Given the description of an element on the screen output the (x, y) to click on. 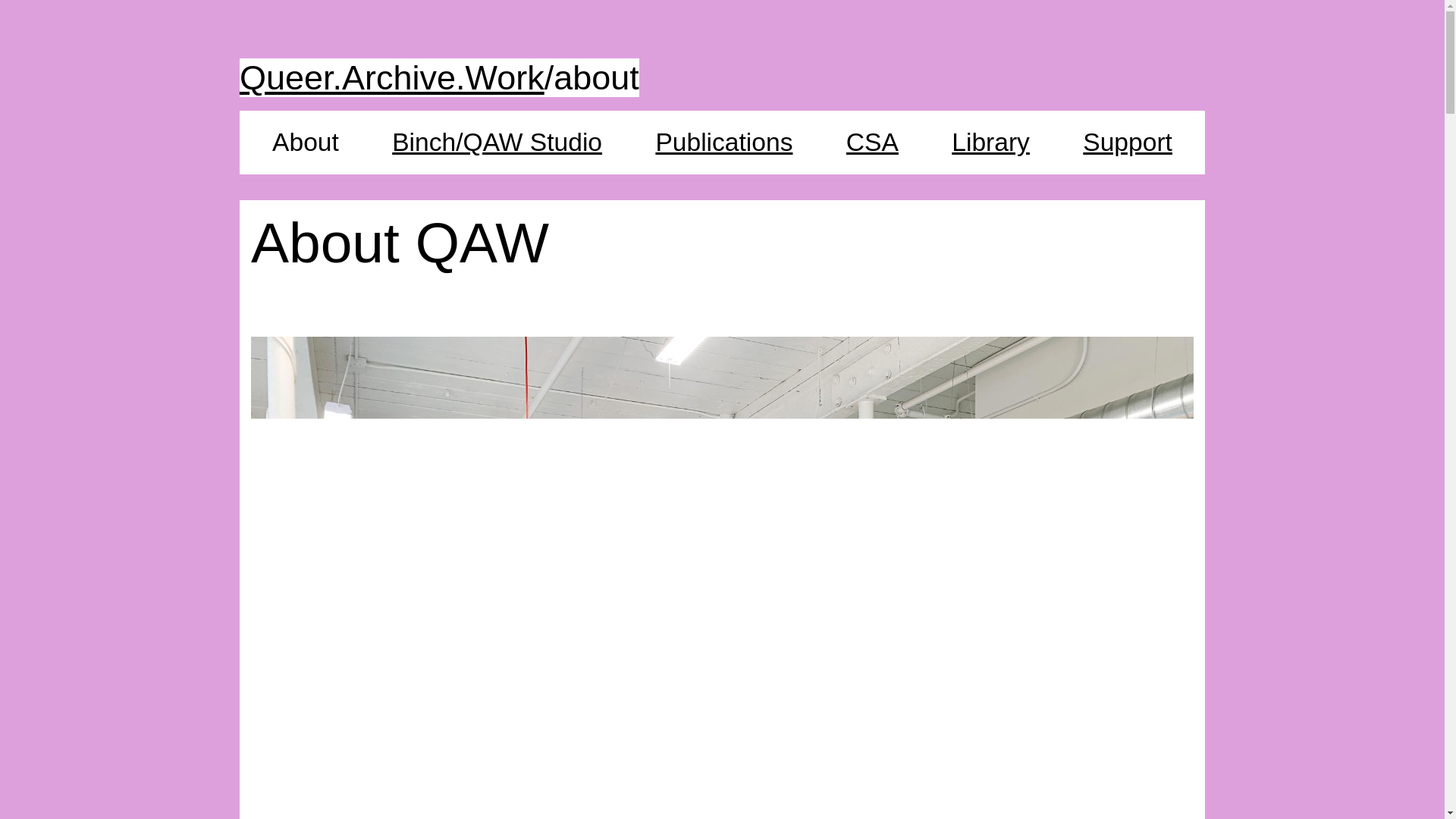
Publications (723, 141)
Queer.Archive.Work (392, 77)
CSA (871, 141)
